Given the description of an element on the screen output the (x, y) to click on. 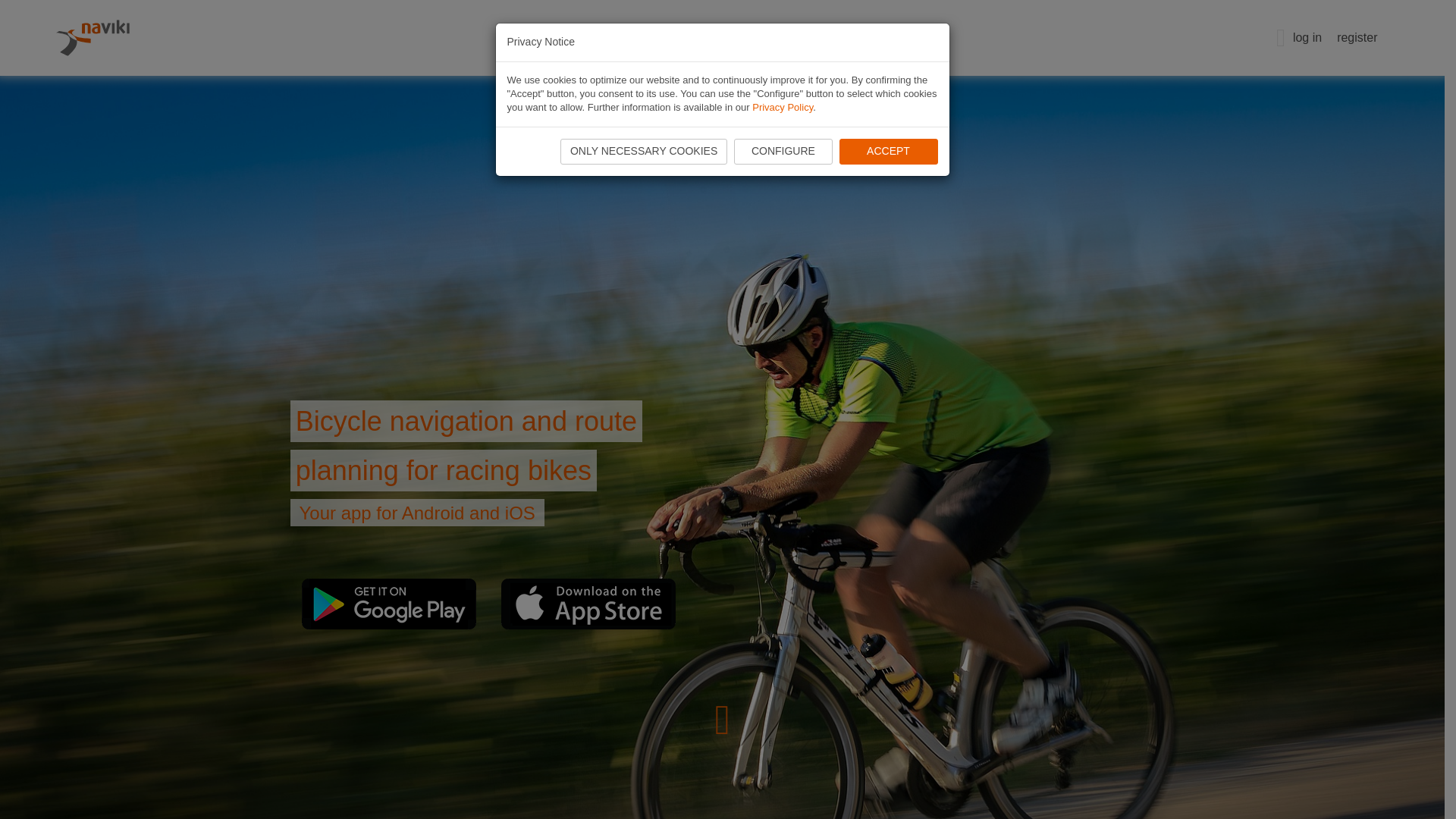
log in (1307, 37)
APP (717, 37)
ABOUT NAVIKI (802, 37)
register (1353, 37)
PLAN ROUTE (636, 37)
